Given the description of an element on the screen output the (x, y) to click on. 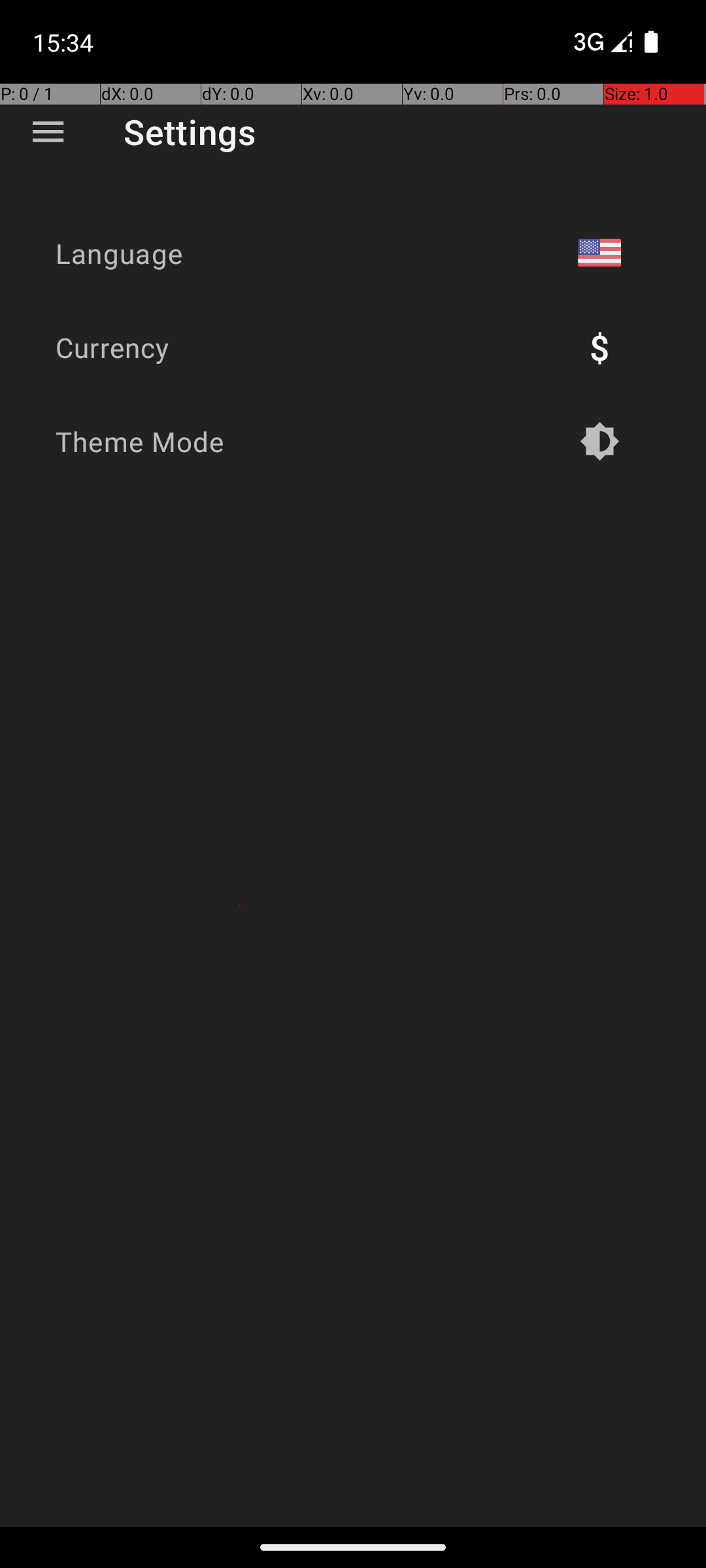
Language Element type: android.widget.TextView (118, 252)
Currency Element type: android.widget.TextView (111, 346)
$ Element type: android.widget.TextView (599, 347)
Theme Mode Element type: android.widget.TextView (139, 440)
